Given the description of an element on the screen output the (x, y) to click on. 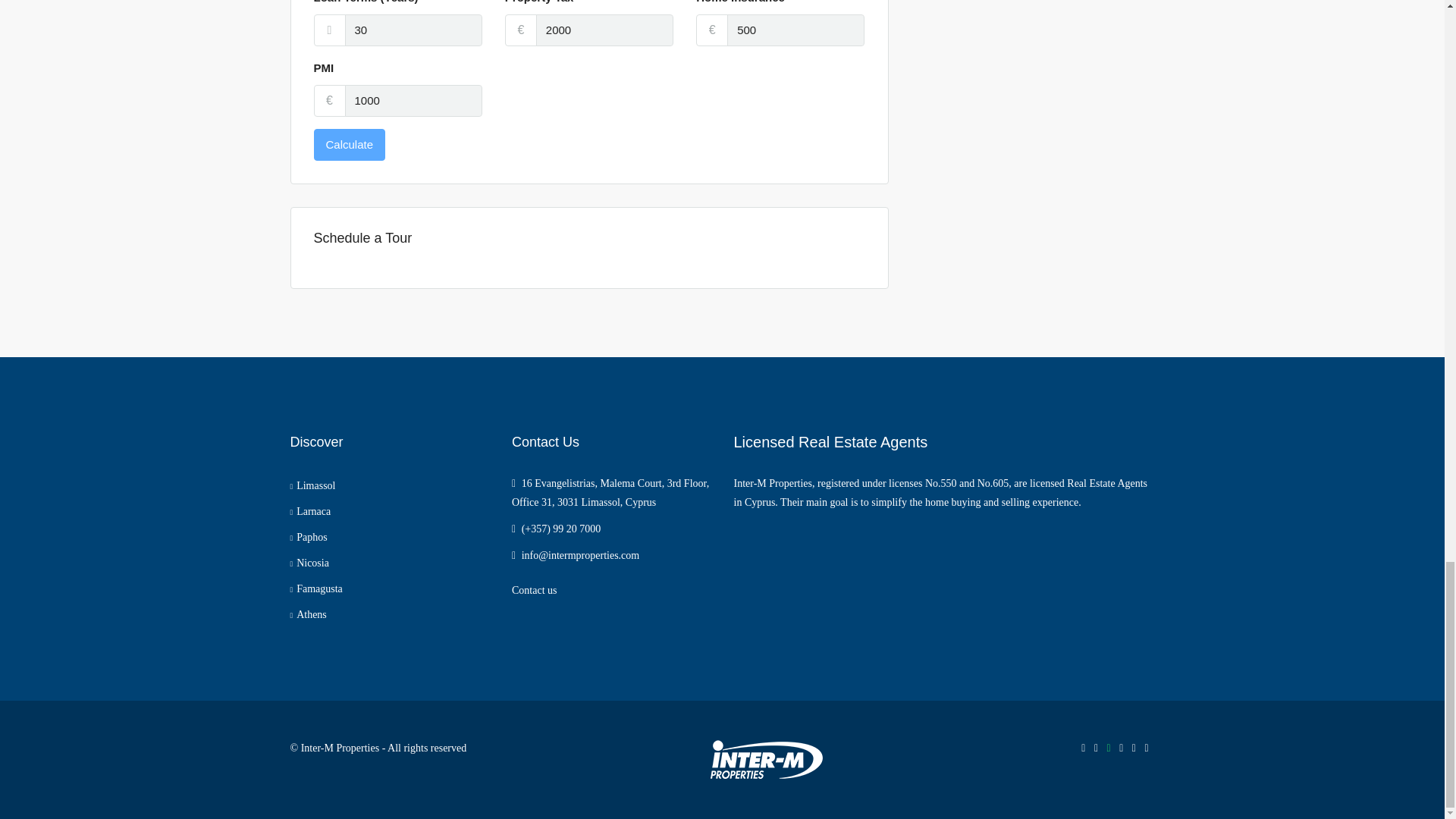
500 (795, 29)
2000 (603, 29)
1000 (412, 101)
30 (412, 29)
